Given the description of an element on the screen output the (x, y) to click on. 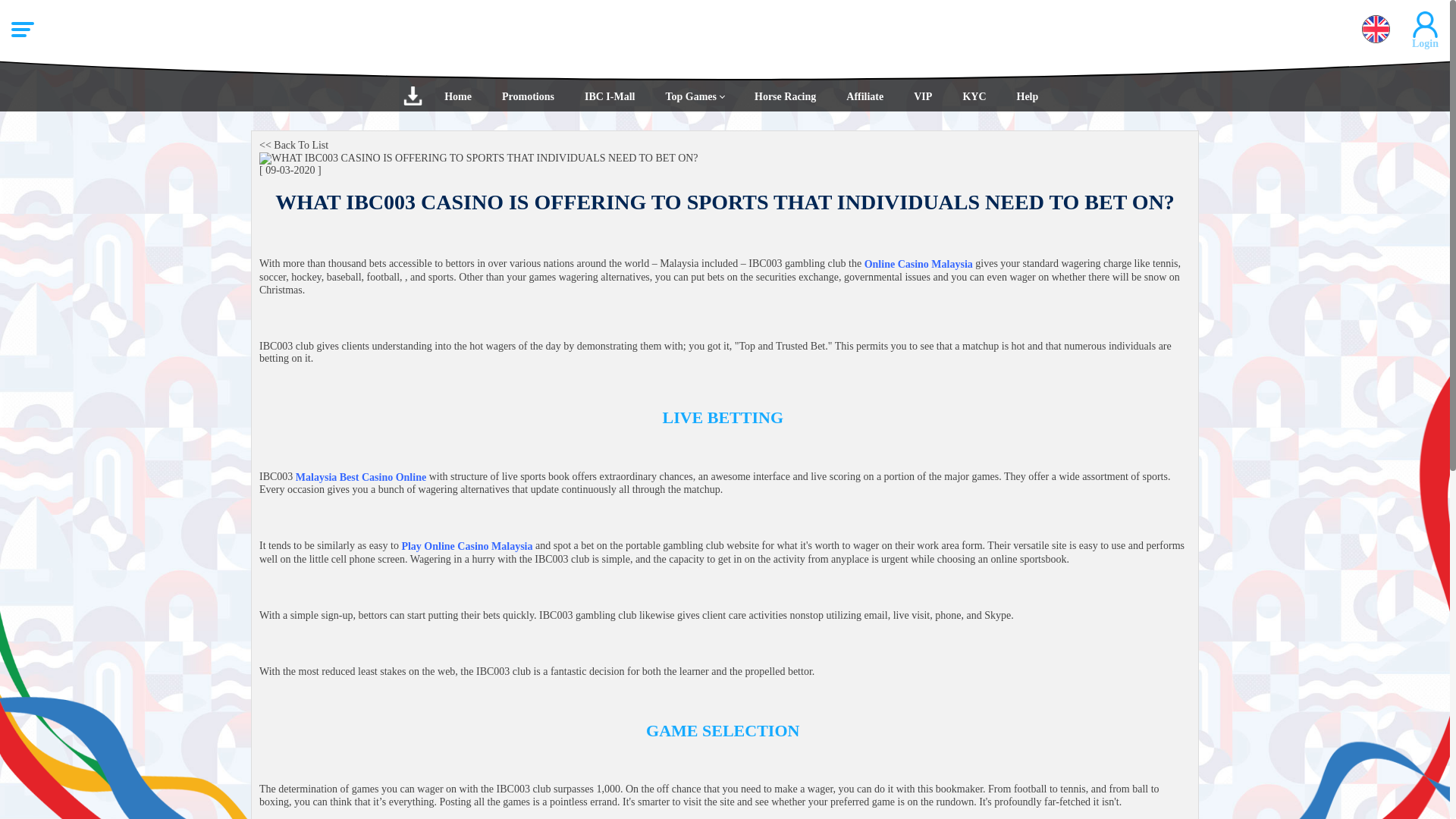
VIP (922, 95)
Help (1026, 95)
Home (457, 95)
Login (724, 214)
Top Games (694, 95)
Horse Racing (785, 95)
KYC (974, 95)
Affiliate (864, 95)
IBC I-Mall (609, 95)
